Given the description of an element on the screen output the (x, y) to click on. 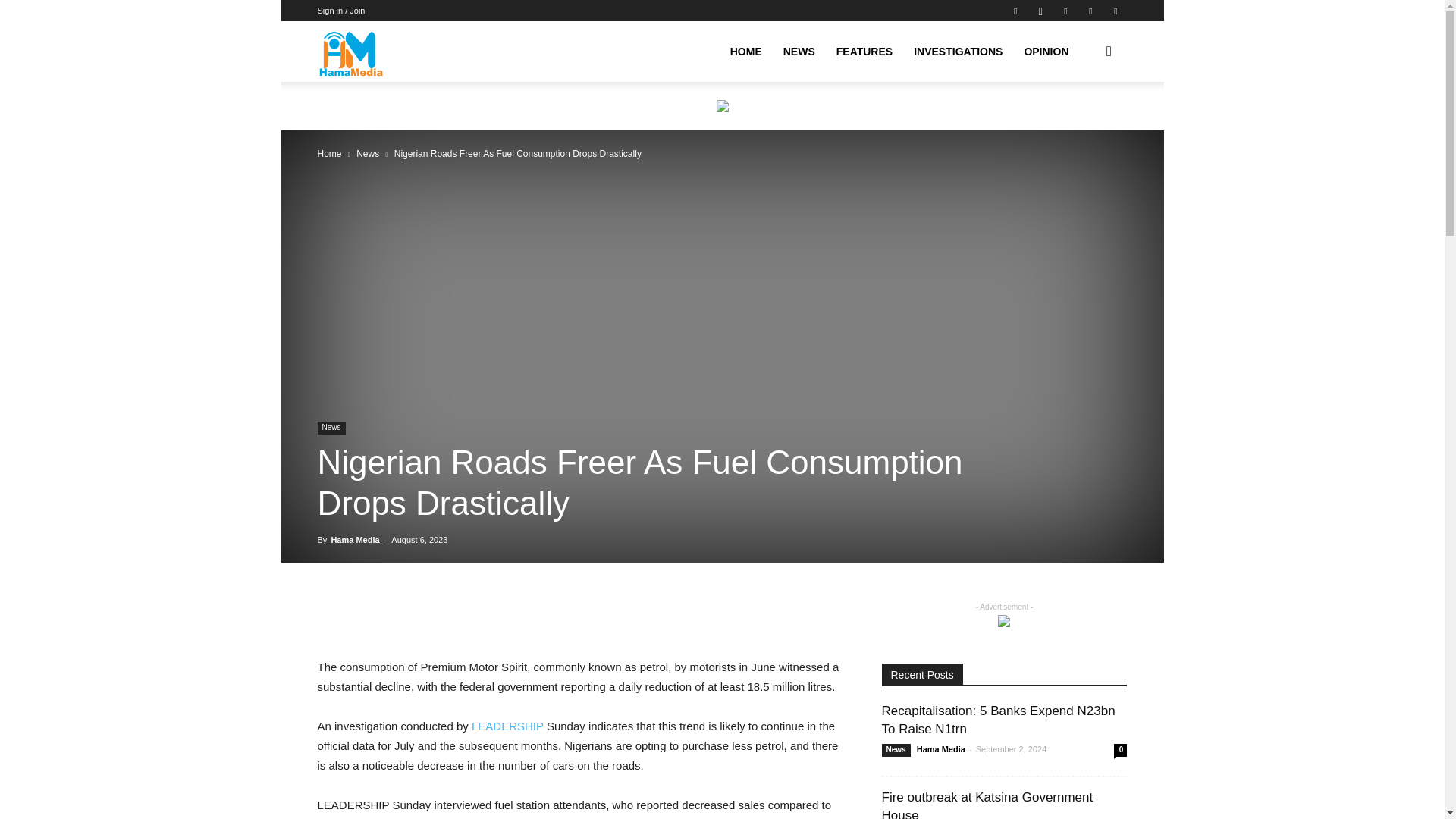
Youtube (1114, 10)
Instagram (1040, 10)
Twitter (1065, 10)
View all posts in News (367, 153)
OPINION (1045, 51)
Vimeo (1090, 10)
INVESTIGATIONS (957, 51)
Search (1085, 124)
Hama Media (351, 51)
Home (328, 153)
